Given the description of an element on the screen output the (x, y) to click on. 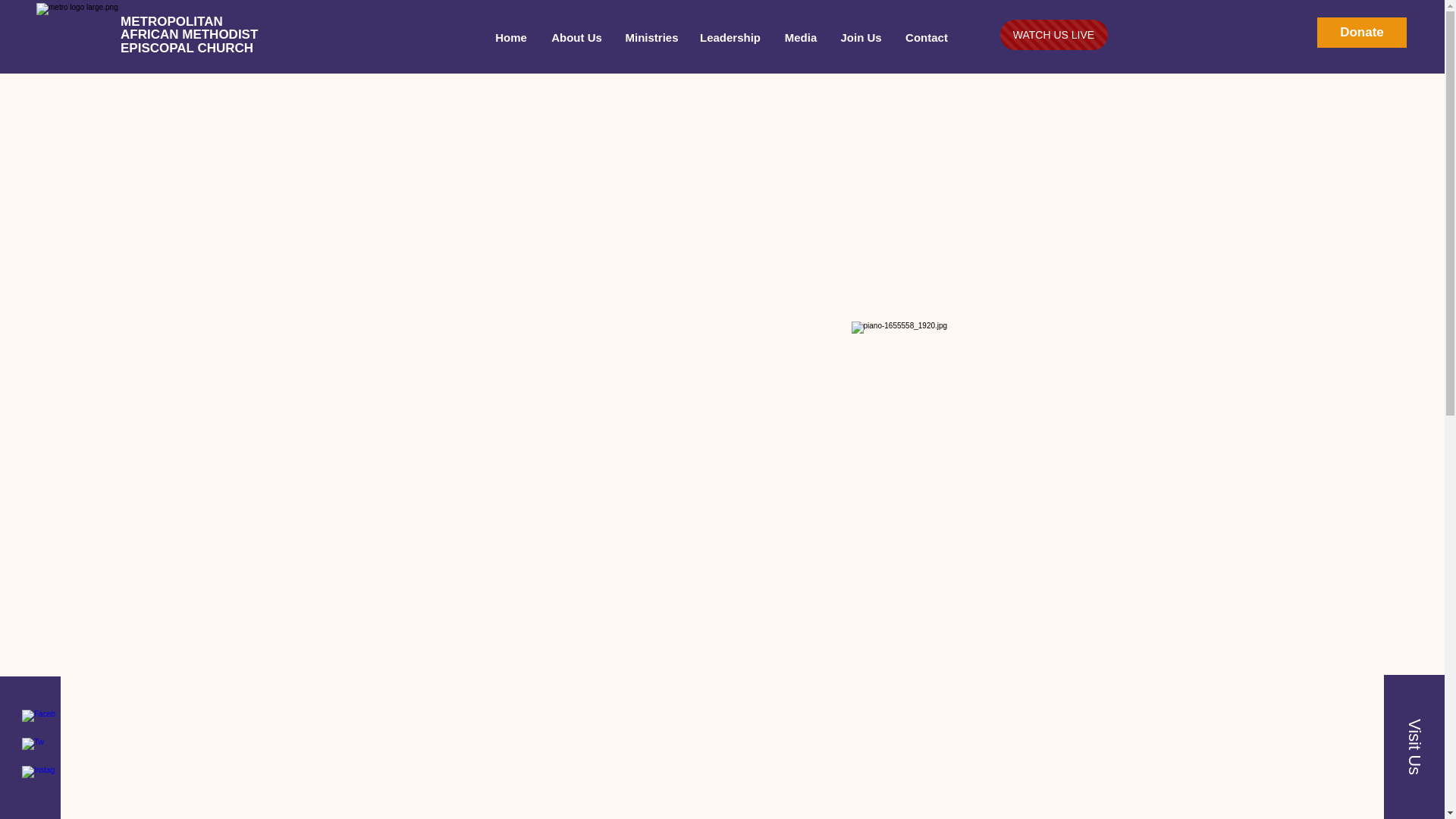
WATCH US LIVE (1052, 34)
Contact (926, 37)
Media (799, 37)
METROPOLITAN AFRICAN METHODIST EPISCOPAL CHURCH (188, 34)
Ministries (651, 37)
Donate (1361, 32)
Home (509, 37)
Join Us (860, 37)
